Given the description of an element on the screen output the (x, y) to click on. 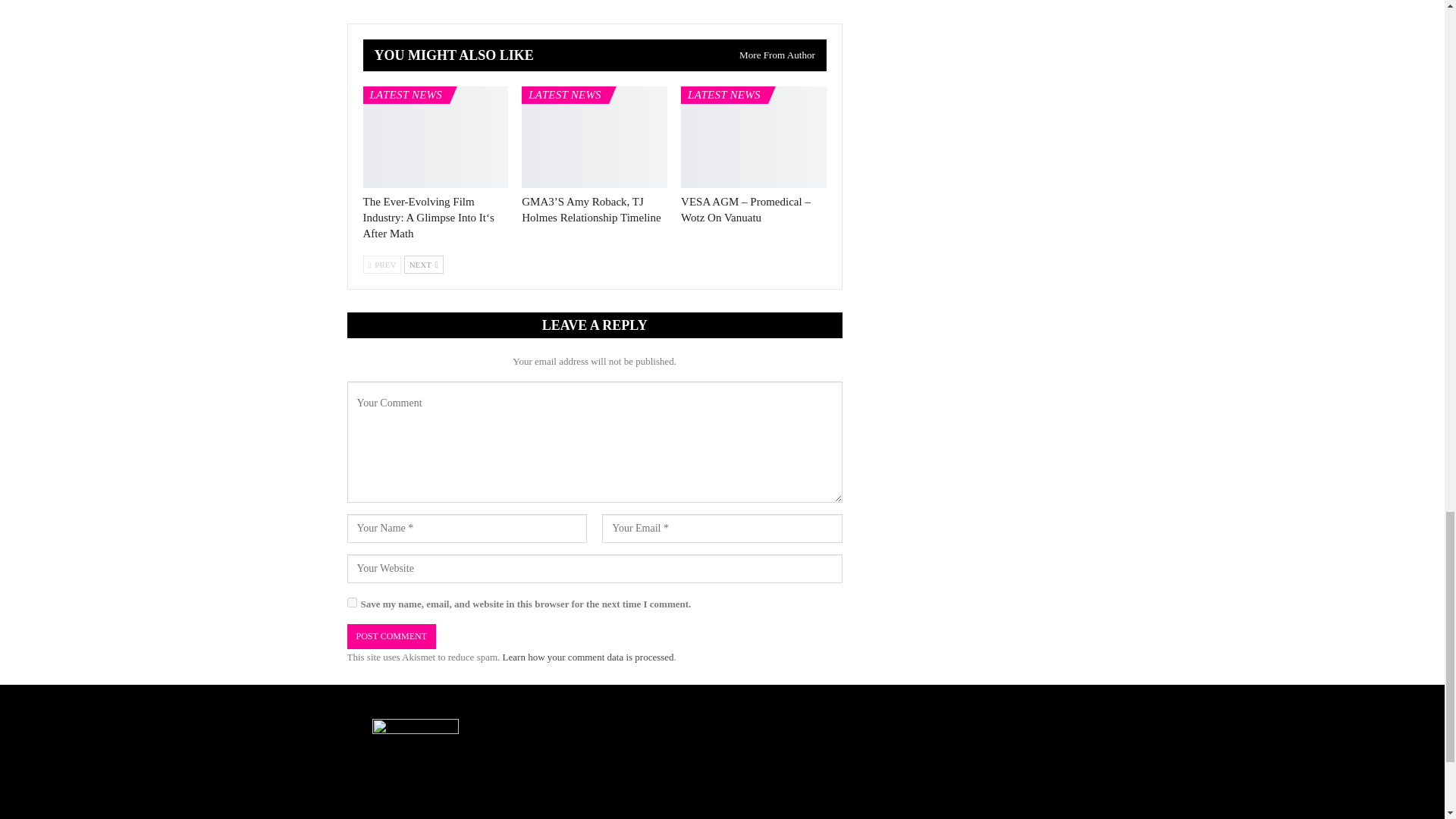
Post Comment (391, 636)
yes (351, 602)
